Given the description of an element on the screen output the (x, y) to click on. 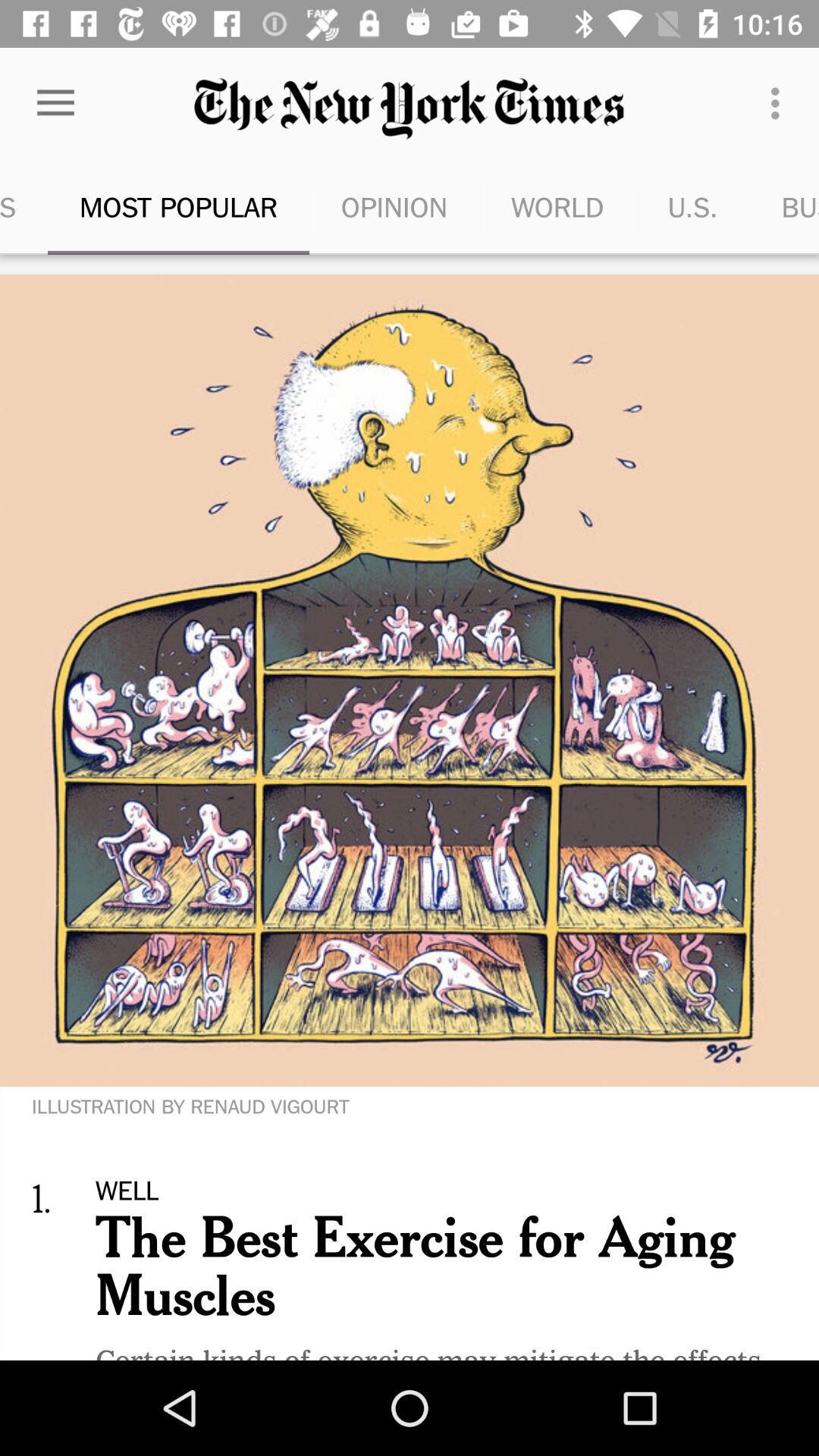
turn off the business day icon (784, 206)
